Given the description of an element on the screen output the (x, y) to click on. 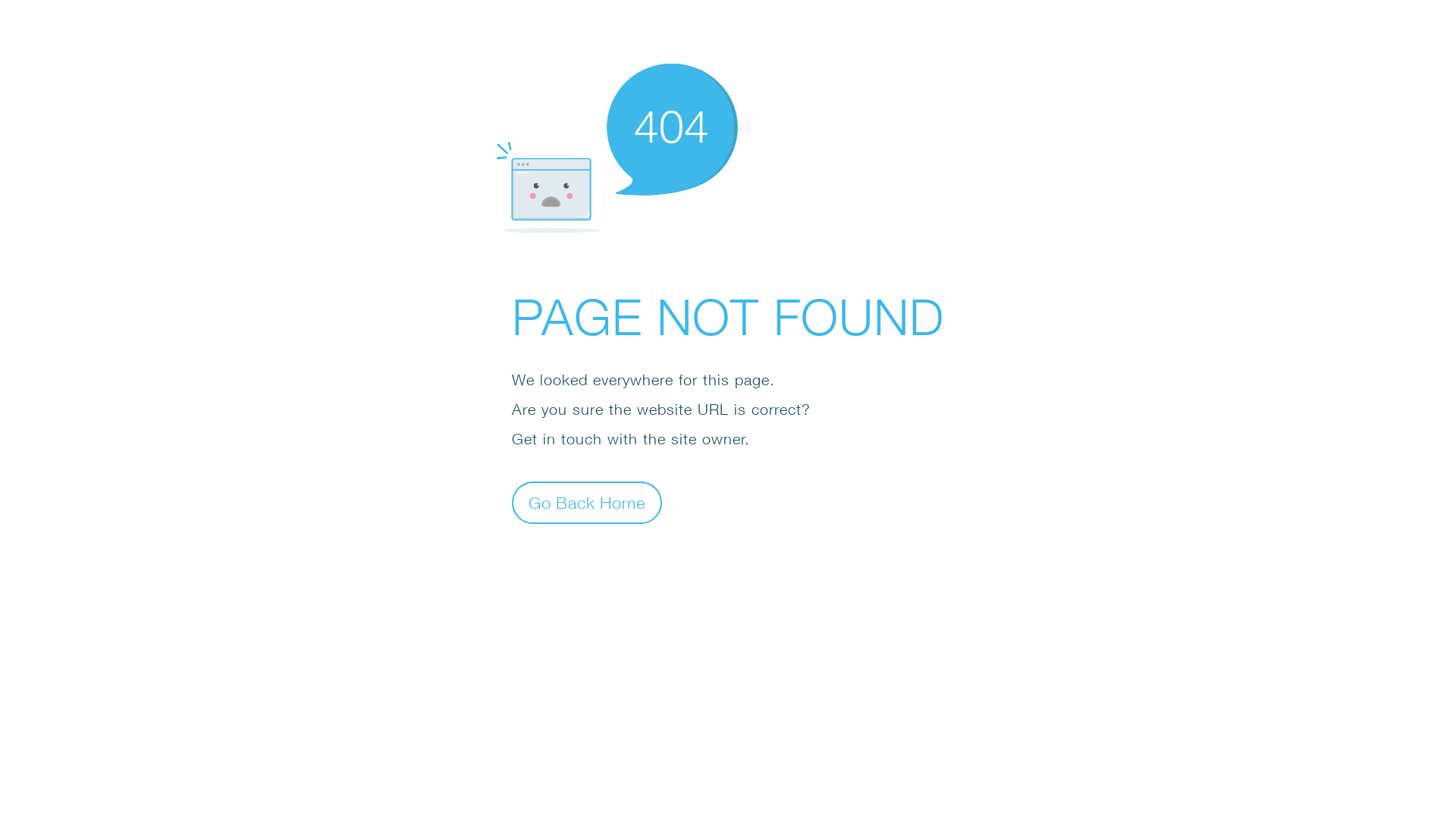
Go Back Home Element type: text (586, 502)
